Given the description of an element on the screen output the (x, y) to click on. 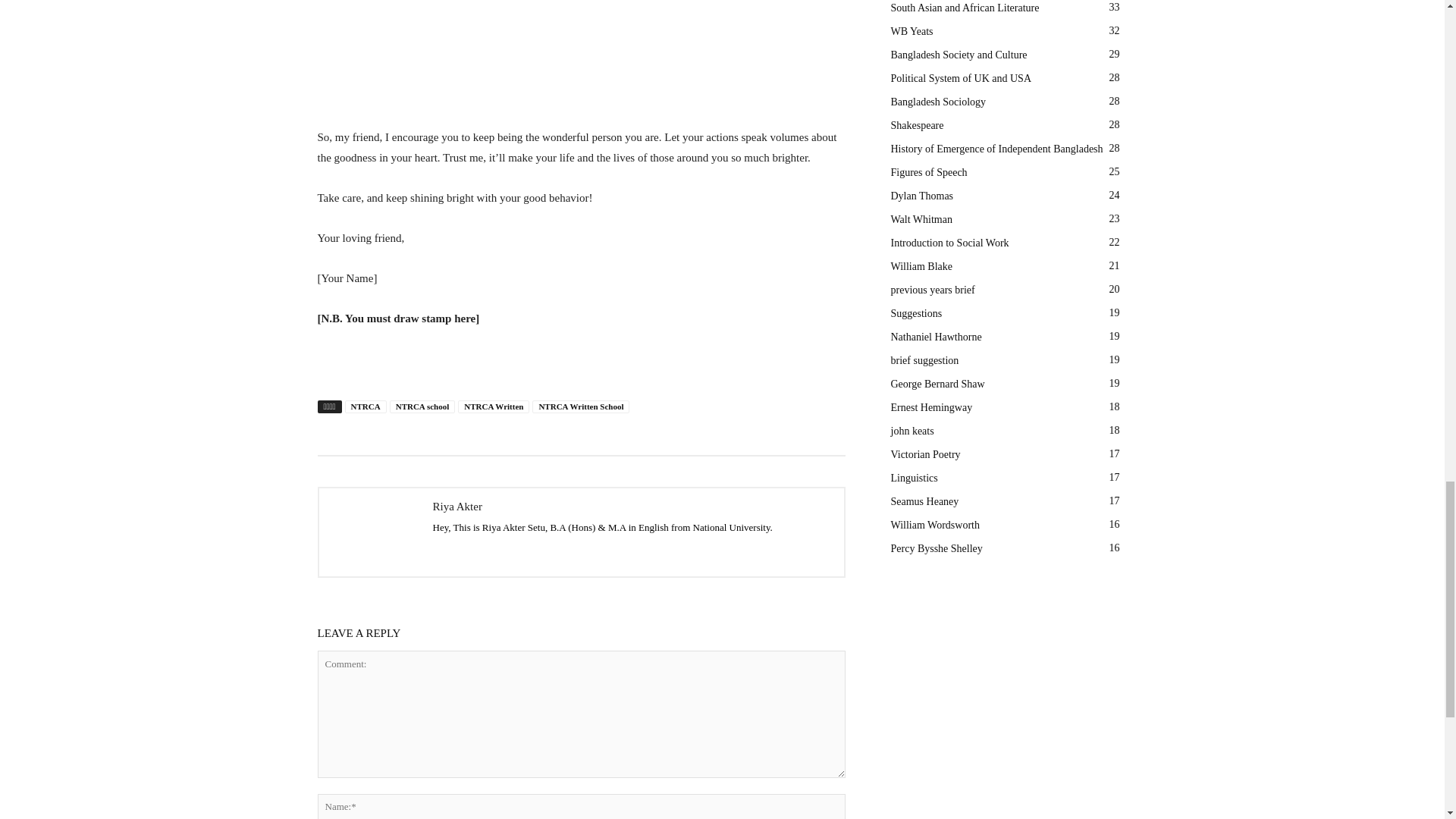
Riya Akter (371, 532)
